Given the description of an element on the screen output the (x, y) to click on. 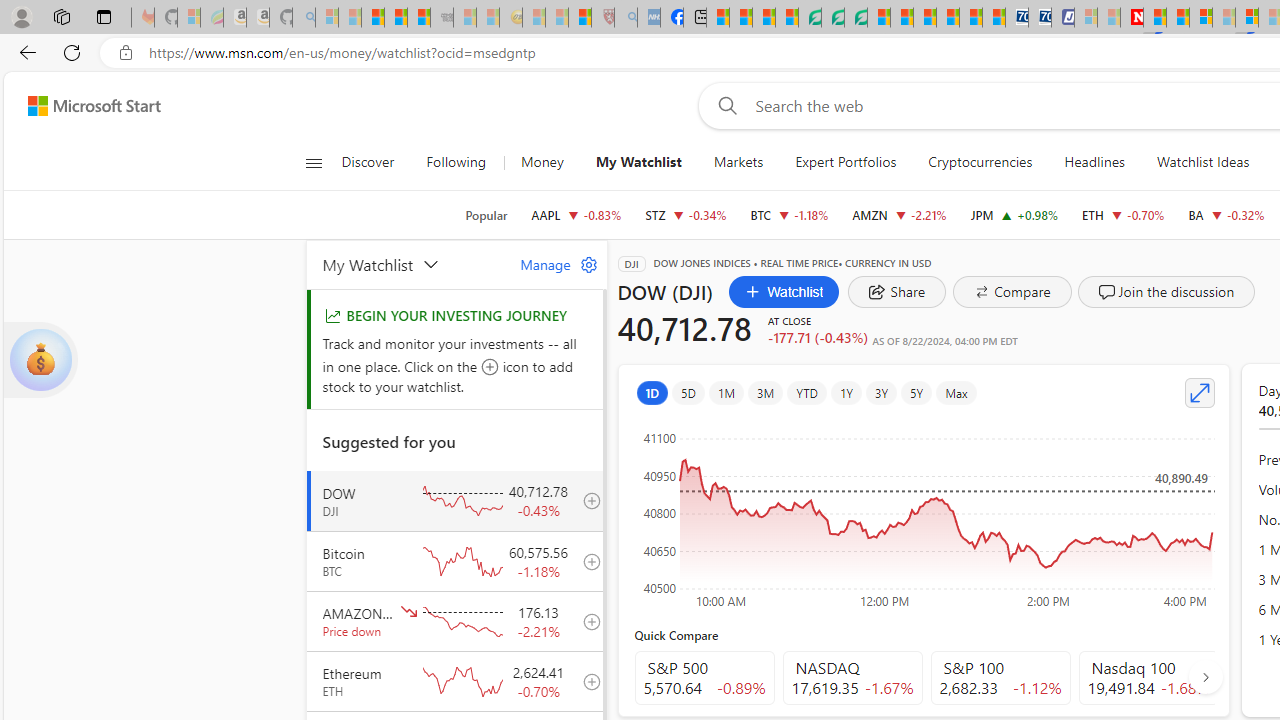
AAPL APPLE INC. decrease 224.53 -1.87 -0.83% (575, 214)
Max (955, 392)
14 Common Myths Debunked By Scientific Facts (1178, 17)
Skip to footer (82, 105)
add to your watchlist (586, 681)
Cryptocurrencies (980, 162)
Microsoft Word - consumer-privacy address update 2.2021 (855, 17)
BA THE BOEING COMPANY decrease 172.87 -0.56 -0.32% (1226, 214)
AMZN AMAZON.COM, INC. decrease 176.13 -3.98 -2.21% (898, 214)
